Given the description of an element on the screen output the (x, y) to click on. 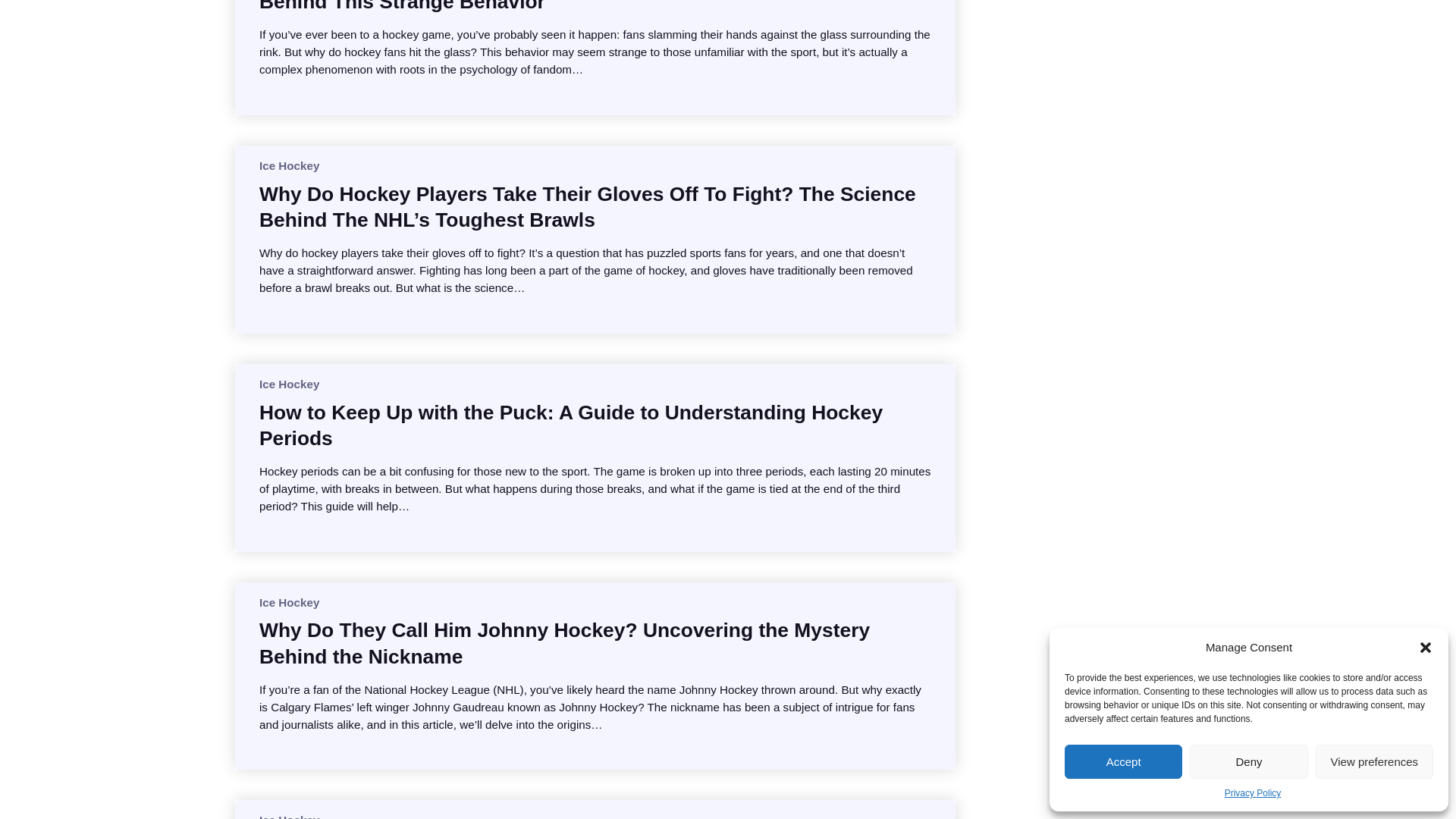
Ice Hockey (288, 383)
Ice Hockey (288, 602)
Ice Hockey (288, 164)
Ice Hockey (288, 816)
